Given the description of an element on the screen output the (x, y) to click on. 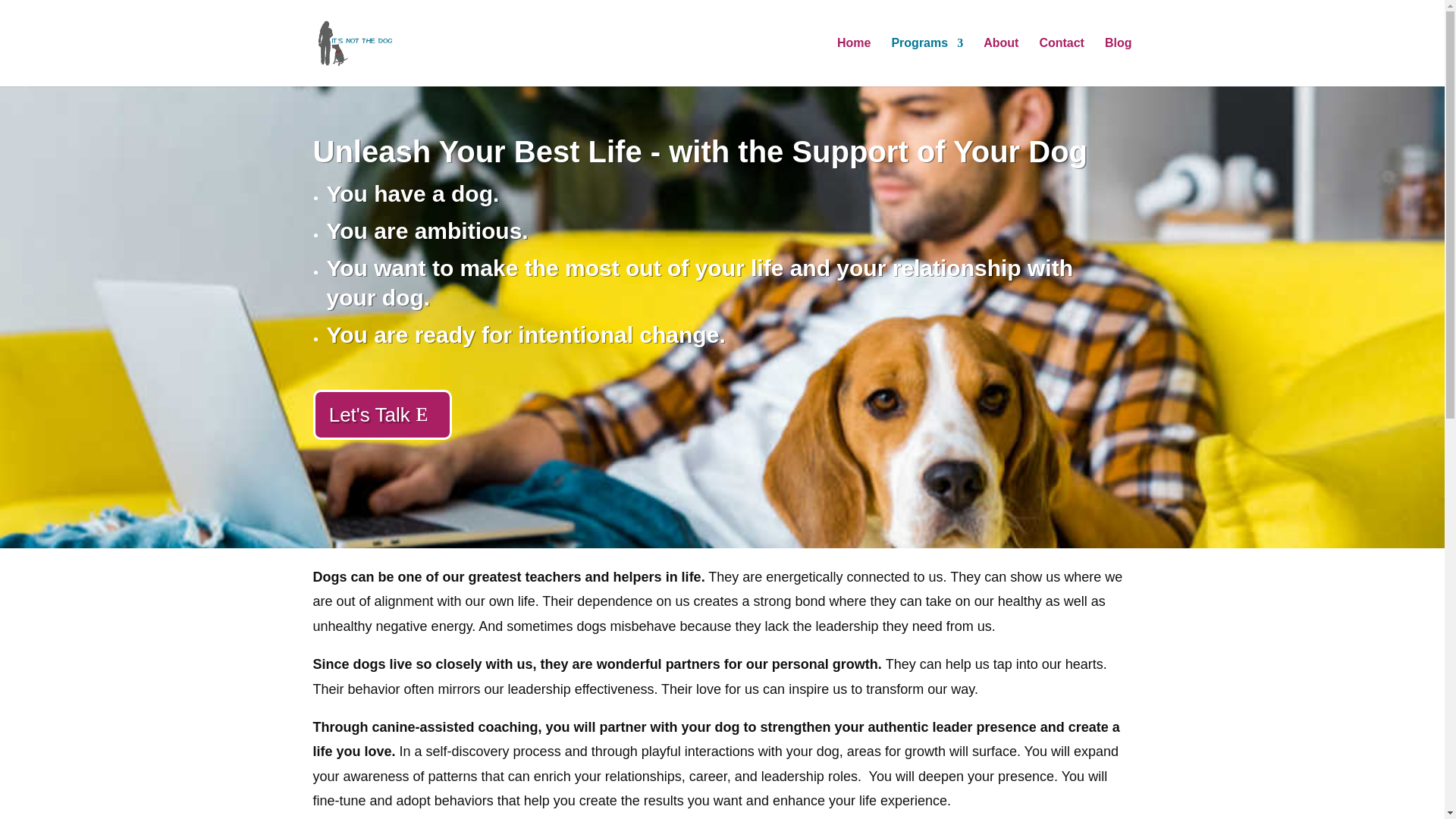
Let's Talk (382, 414)
Contact (1061, 61)
Programs (926, 61)
